Given the description of an element on the screen output the (x, y) to click on. 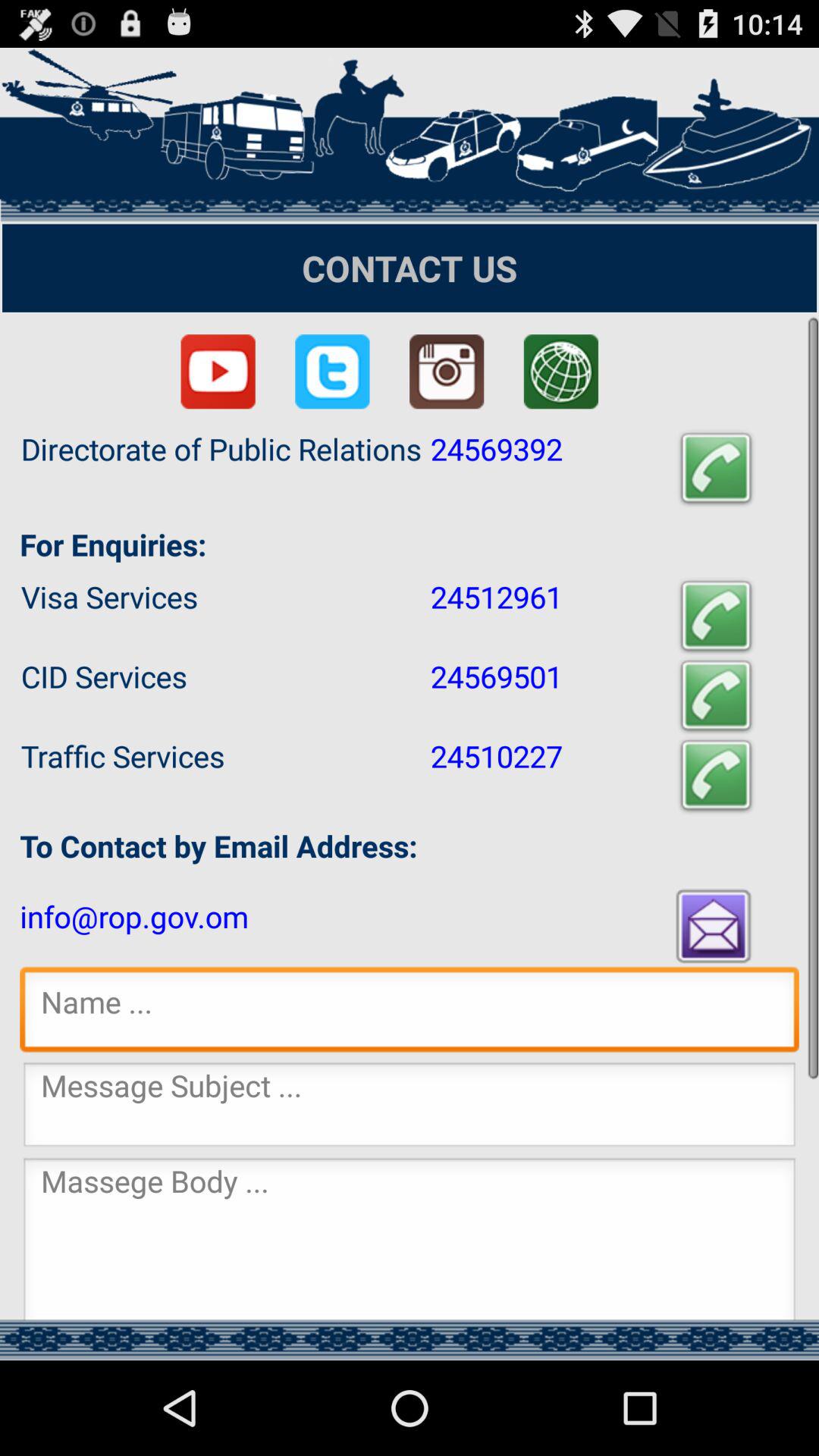
choose the item to the right of the 24510227 (716, 775)
